Given the description of an element on the screen output the (x, y) to click on. 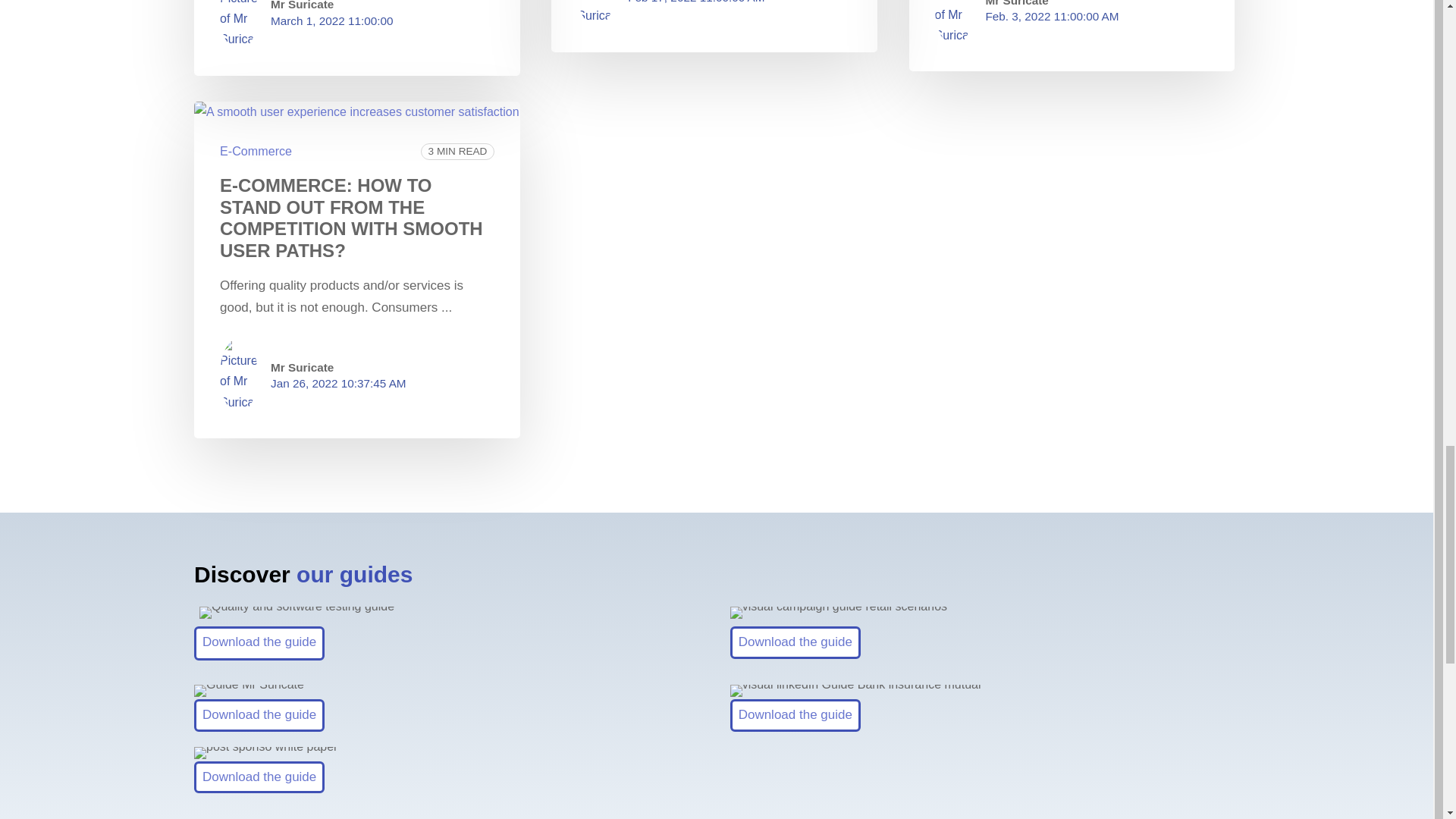
post sponso white paper (265, 752)
visual linkedIn Guide Bank insurance mutual (855, 690)
visual campaign guide retail scenarios (838, 612)
Guide Mr Suricate (248, 690)
Quality and software testing guide (296, 612)
